Given the description of an element on the screen output the (x, y) to click on. 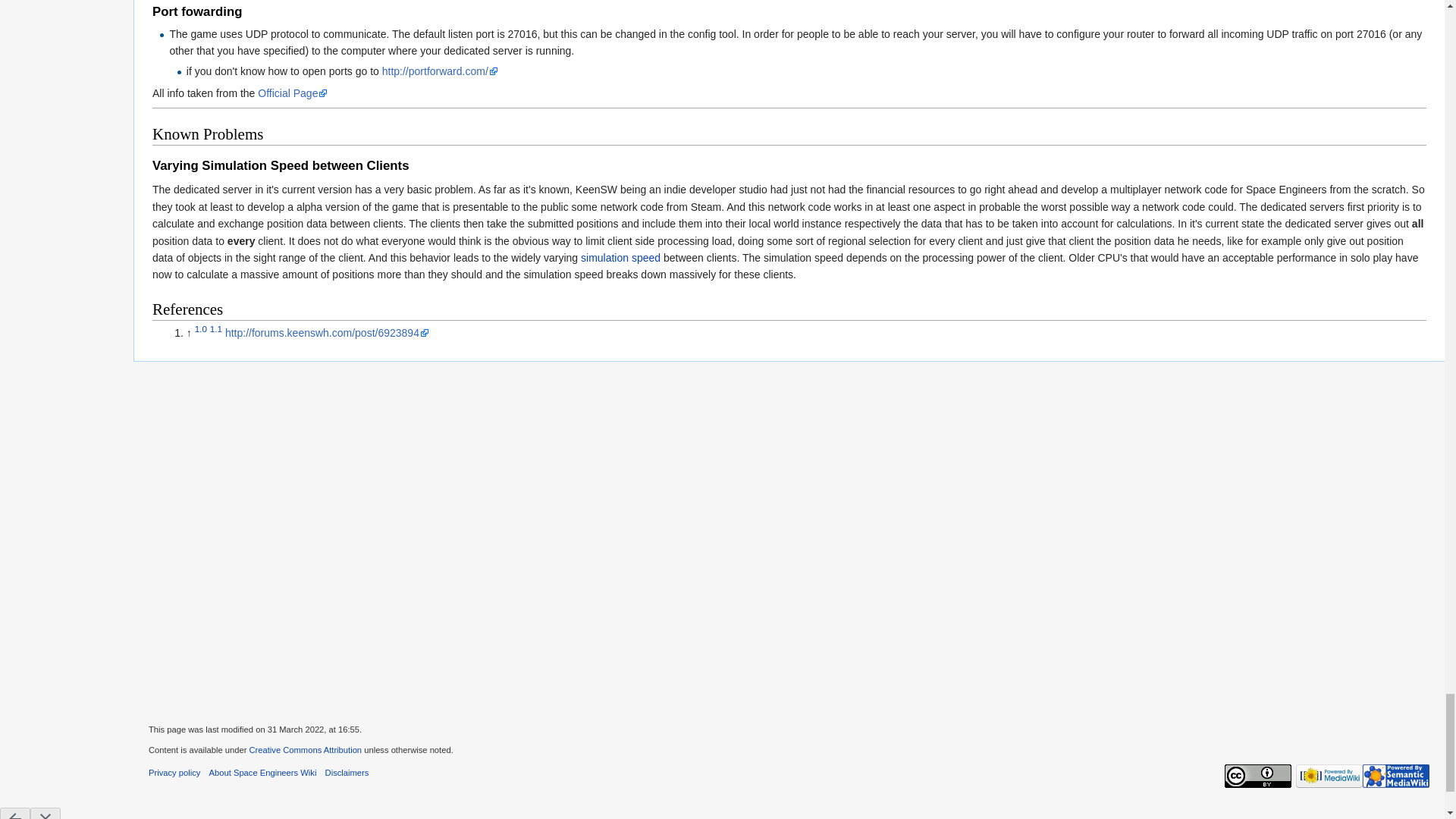
Simulation Speed (620, 257)
1.0 (200, 329)
Official Page (292, 92)
simulation speed (620, 257)
